Given the description of an element on the screen output the (x, y) to click on. 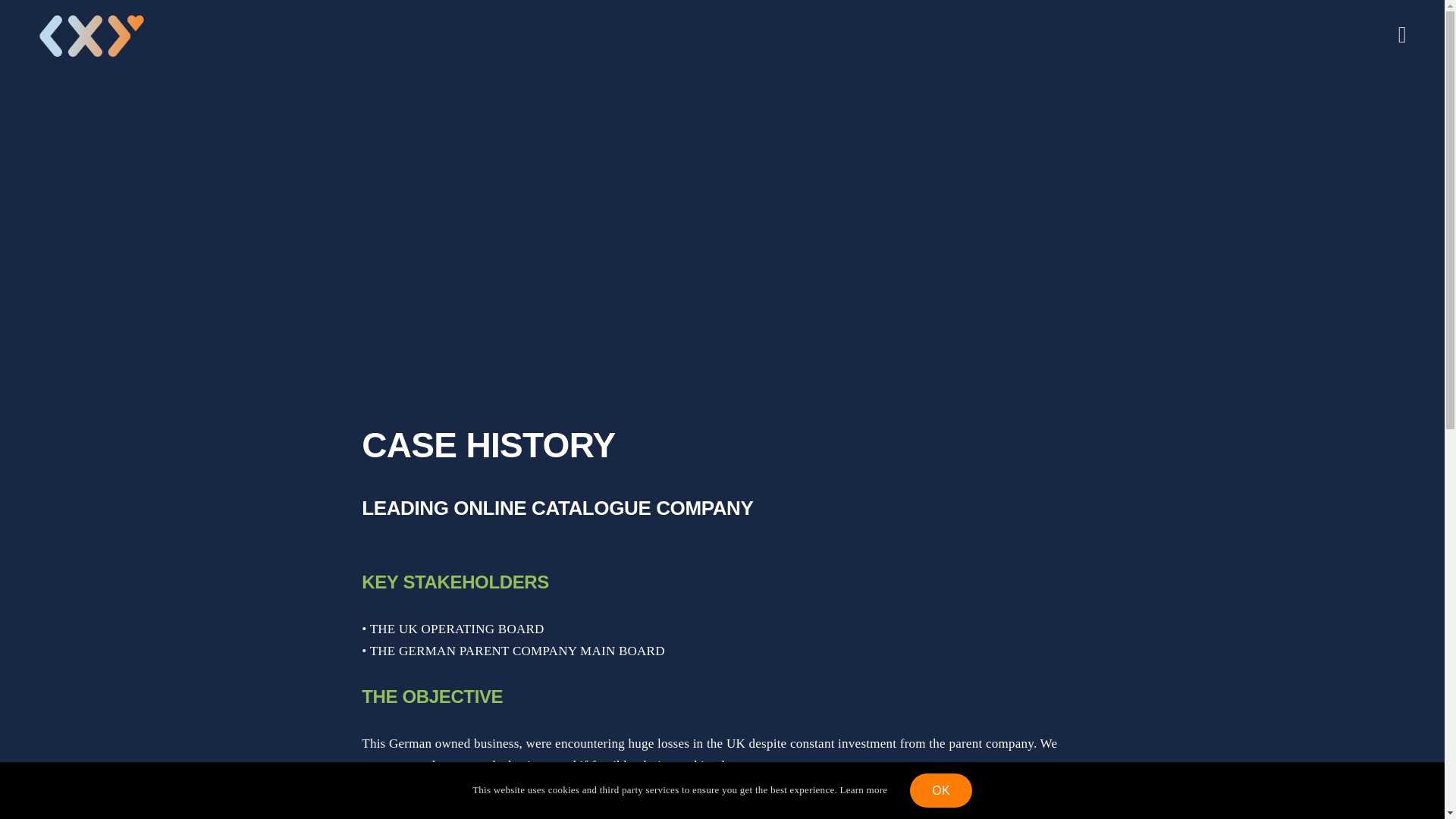
OK (941, 790)
Learn more (863, 789)
